Given the description of an element on the screen output the (x, y) to click on. 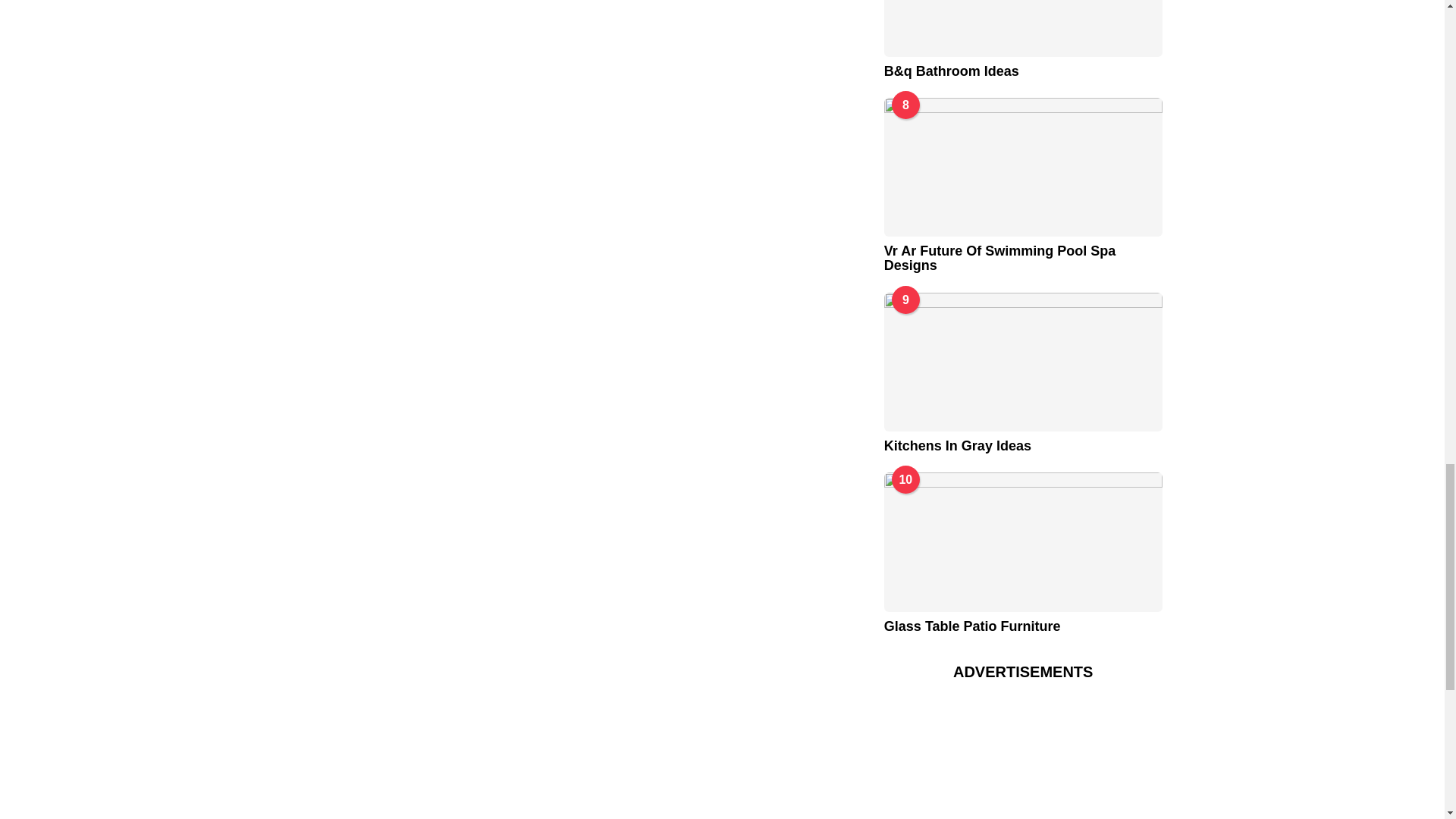
Kitchens In Gray Ideas (1022, 361)
Vr Ar Future Of Swimming Pool Spa Designs (1022, 166)
Glass Table Patio Furniture (1022, 541)
